Given the description of an element on the screen output the (x, y) to click on. 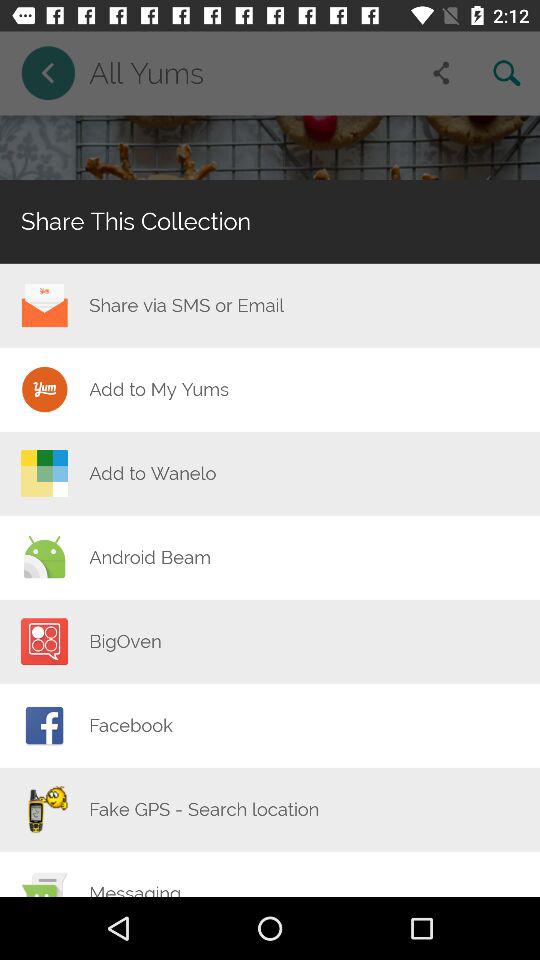
jump to the share via sms item (186, 305)
